Given the description of an element on the screen output the (x, y) to click on. 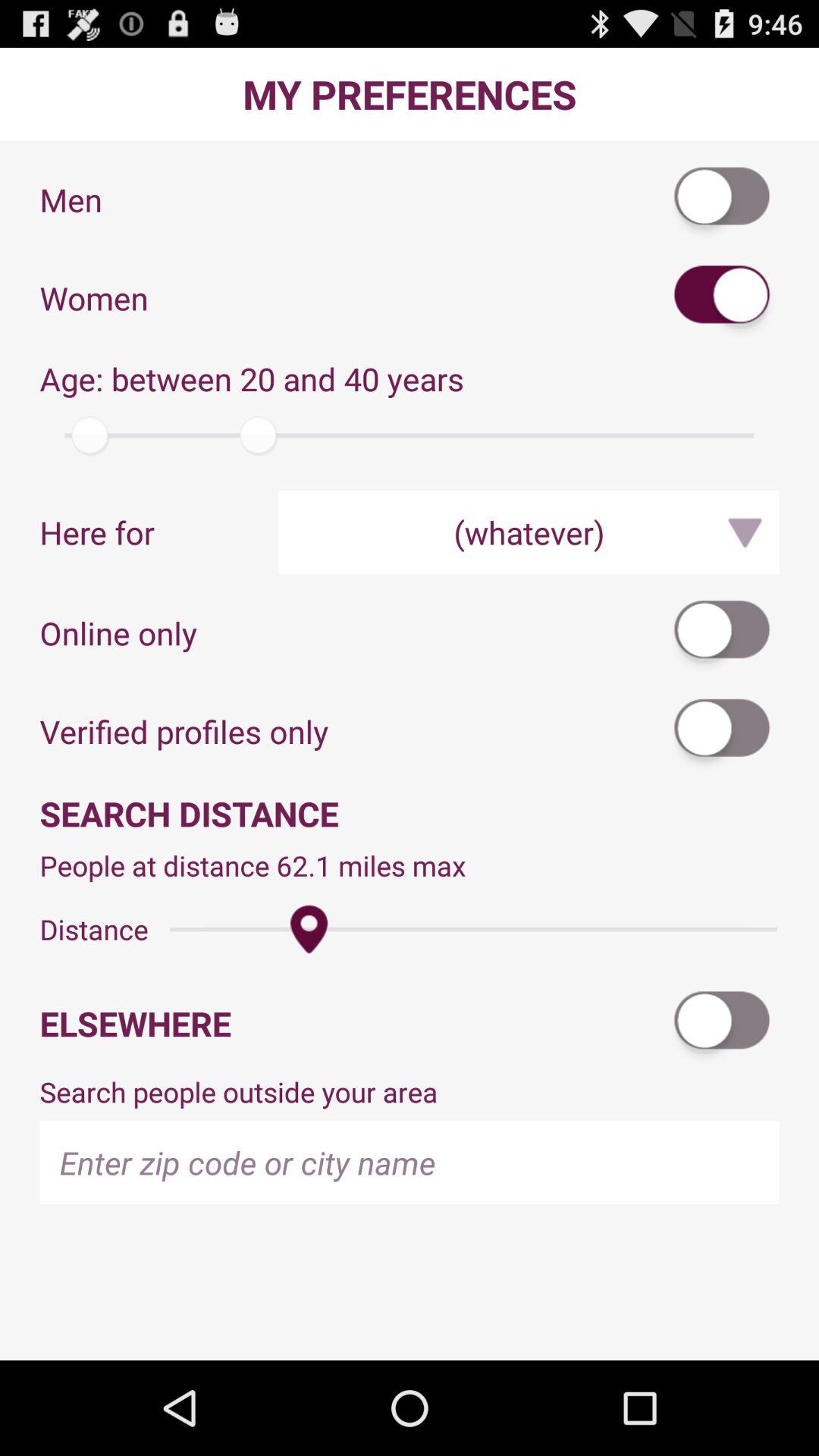
toggle elsewhere setting (722, 1023)
